Given the description of an element on the screen output the (x, y) to click on. 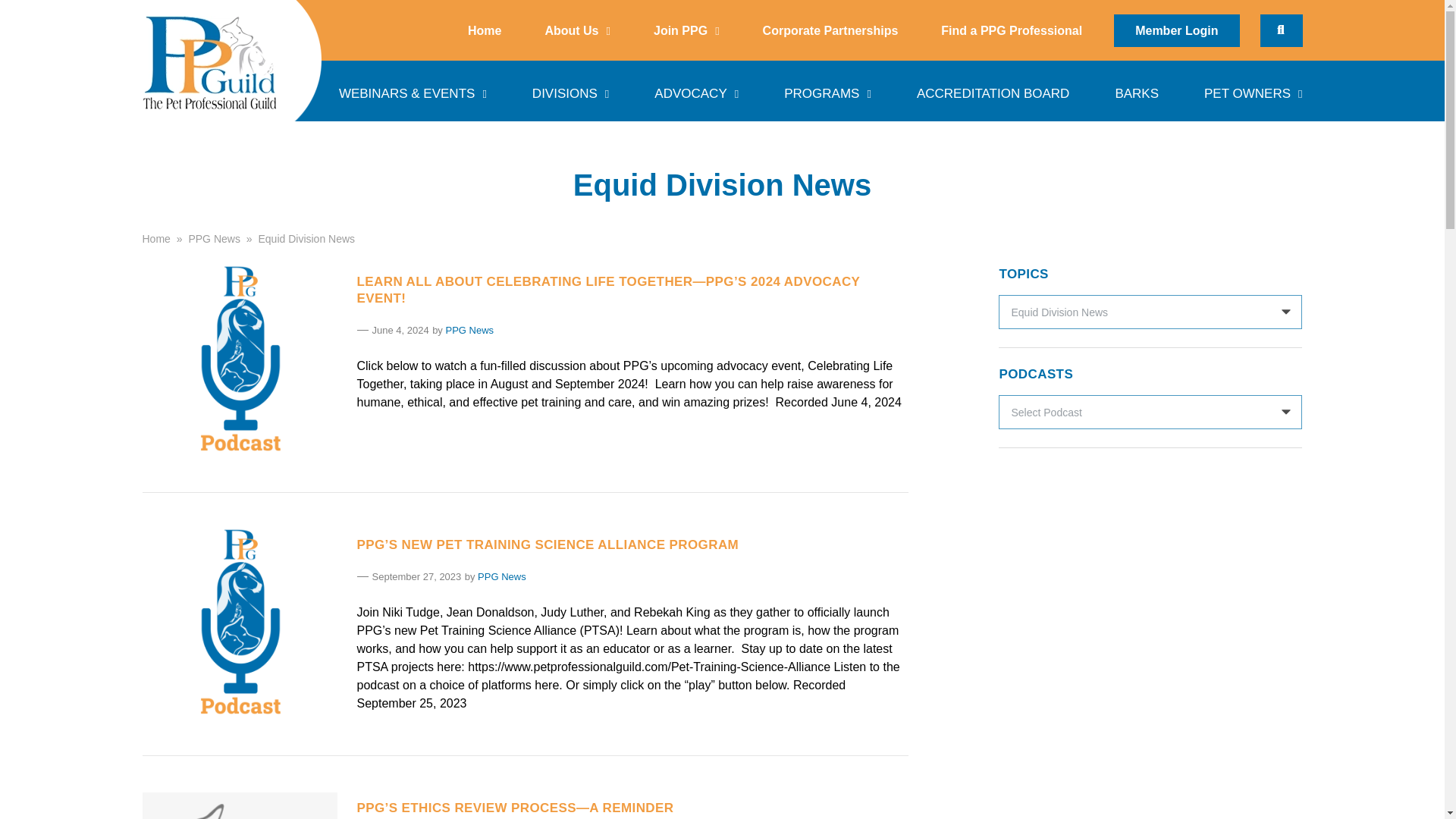
DIVISIONS (570, 90)
Home (484, 30)
Find a PPG Professional (1011, 30)
Join PPG (686, 30)
Go to PPG News. (213, 237)
Member Login (1176, 29)
Corporate Partnerships (830, 30)
Go to Pet Professional Guild. (156, 237)
About Us (576, 30)
